Given the description of an element on the screen output the (x, y) to click on. 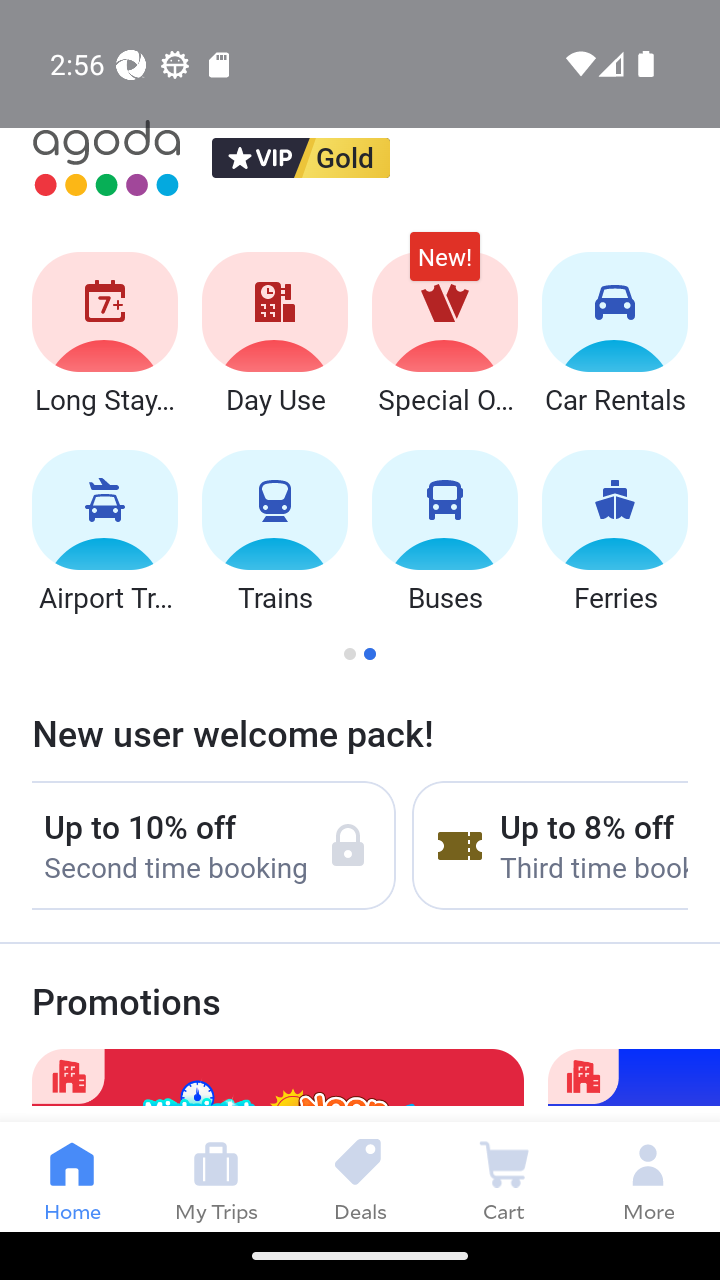
New! (444, 265)
Home (72, 1176)
My Trips (216, 1176)
Deals (360, 1176)
Cart (504, 1176)
More (648, 1176)
